Given the description of an element on the screen output the (x, y) to click on. 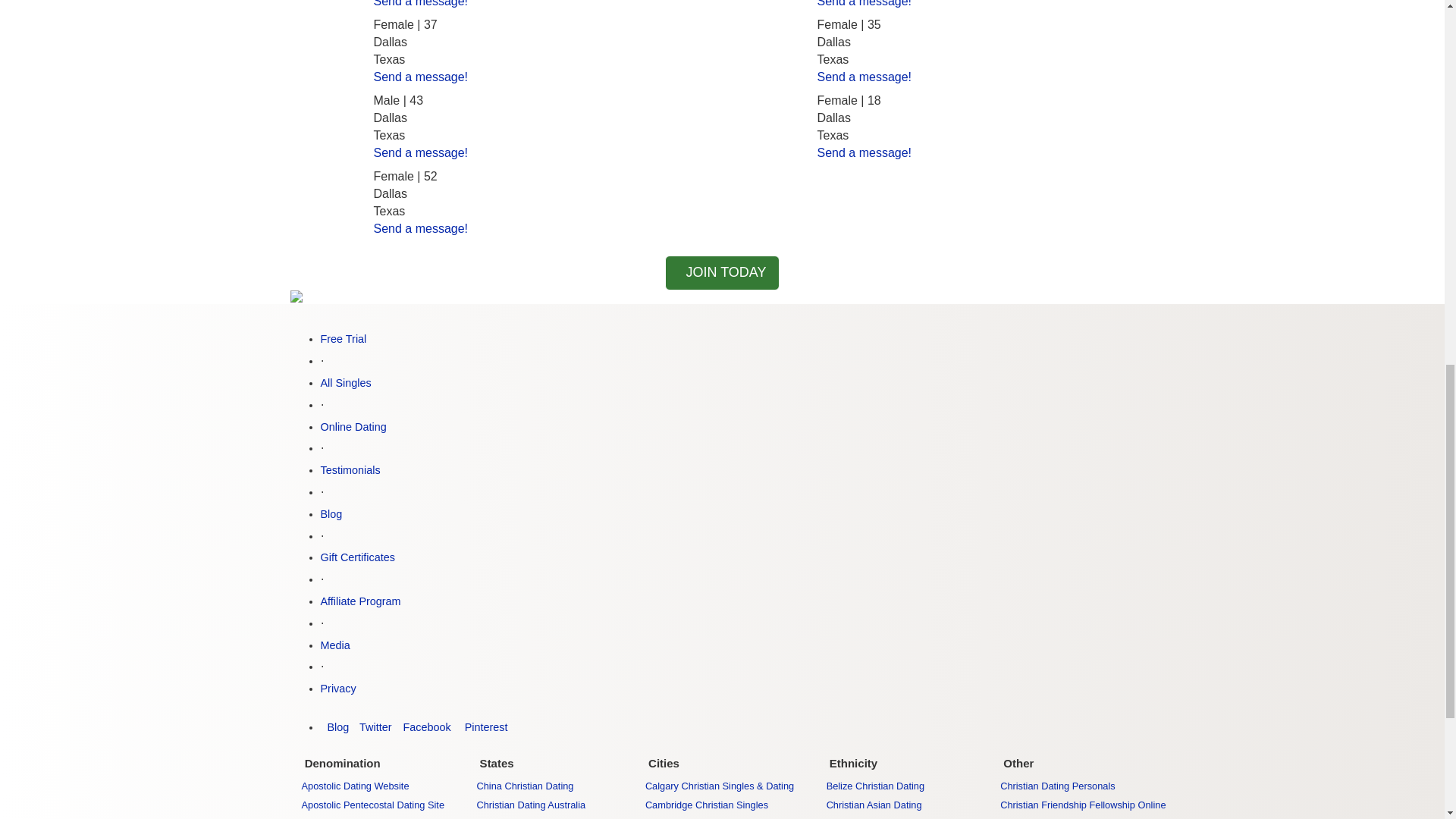
Send a message! (419, 76)
Twitter (373, 727)
Send a message! (419, 3)
Testimonials (350, 469)
Send a message! (864, 76)
Online Dating (352, 426)
 JOIN TODAY (721, 272)
Pinterest (483, 727)
All Singles (345, 382)
Send a message! (864, 3)
